Given the description of an element on the screen output the (x, y) to click on. 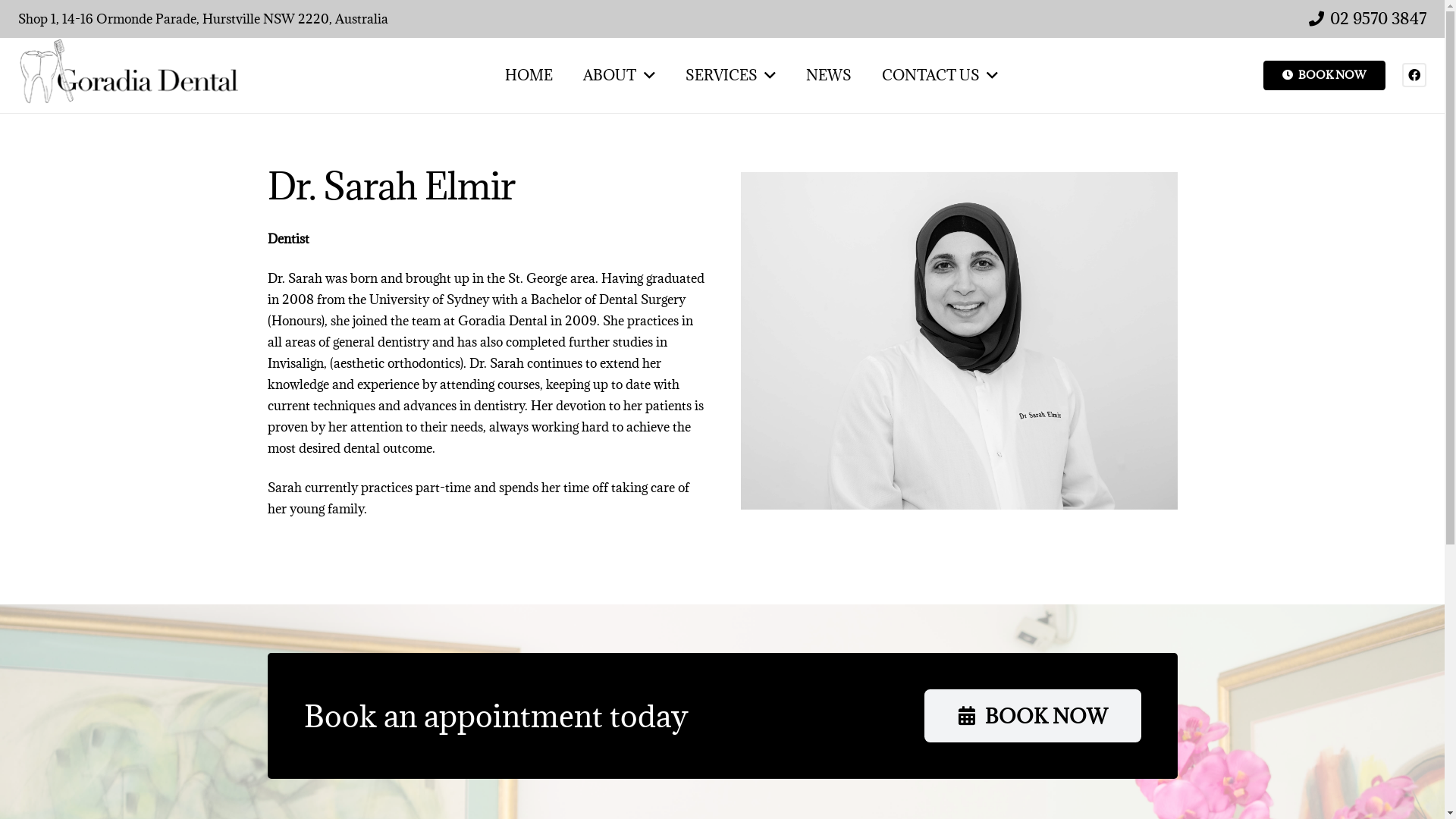
BOOK NOW Element type: text (1323, 75)
Facebook Element type: hover (1414, 74)
NEWS Element type: text (828, 74)
BOOK NOW Element type: text (1032, 715)
HOME Element type: text (528, 74)
02 9570 3847 Element type: text (1367, 18)
CONTACT US Element type: text (939, 74)
SERVICES Element type: text (730, 74)
ABOUT Element type: text (618, 74)
